Given the description of an element on the screen output the (x, y) to click on. 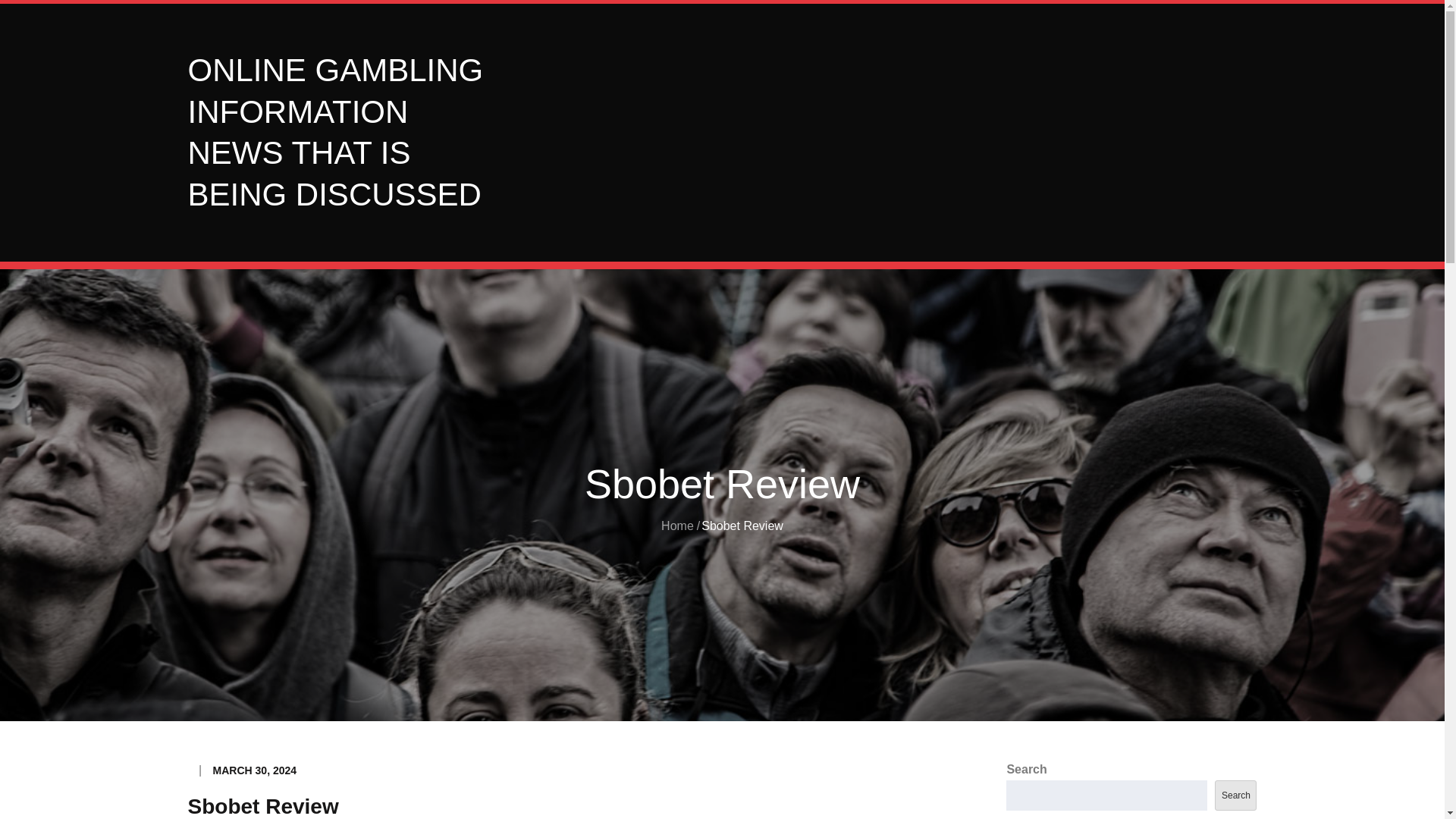
MARCH 30, 2024 (254, 770)
Search (1235, 795)
ONLINE GAMBLING INFORMATION NEWS THAT IS BEING DISCUSSED (335, 132)
Home (677, 525)
